Given the description of an element on the screen output the (x, y) to click on. 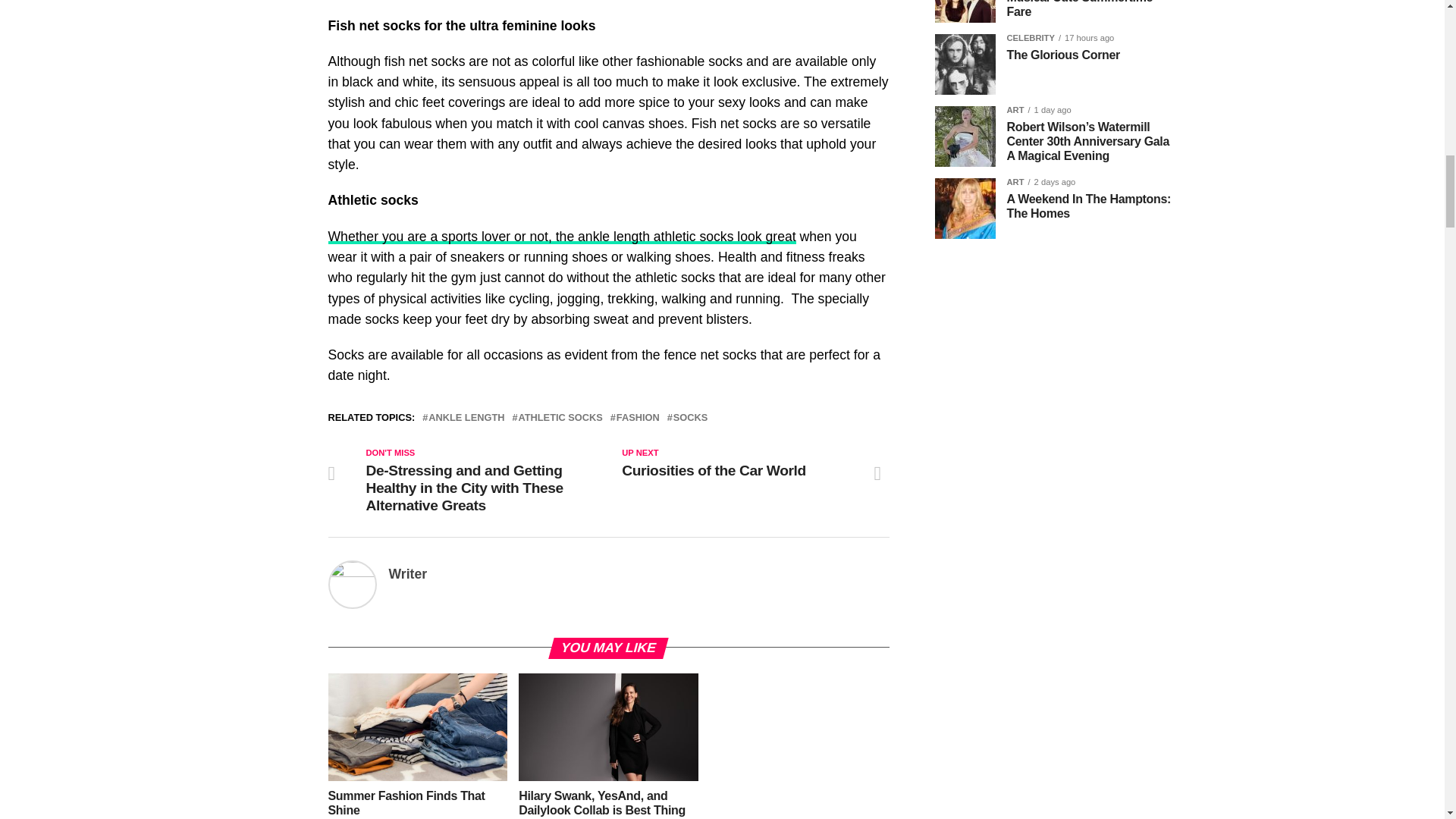
Posts by Writer (407, 573)
